Given the description of an element on the screen output the (x, y) to click on. 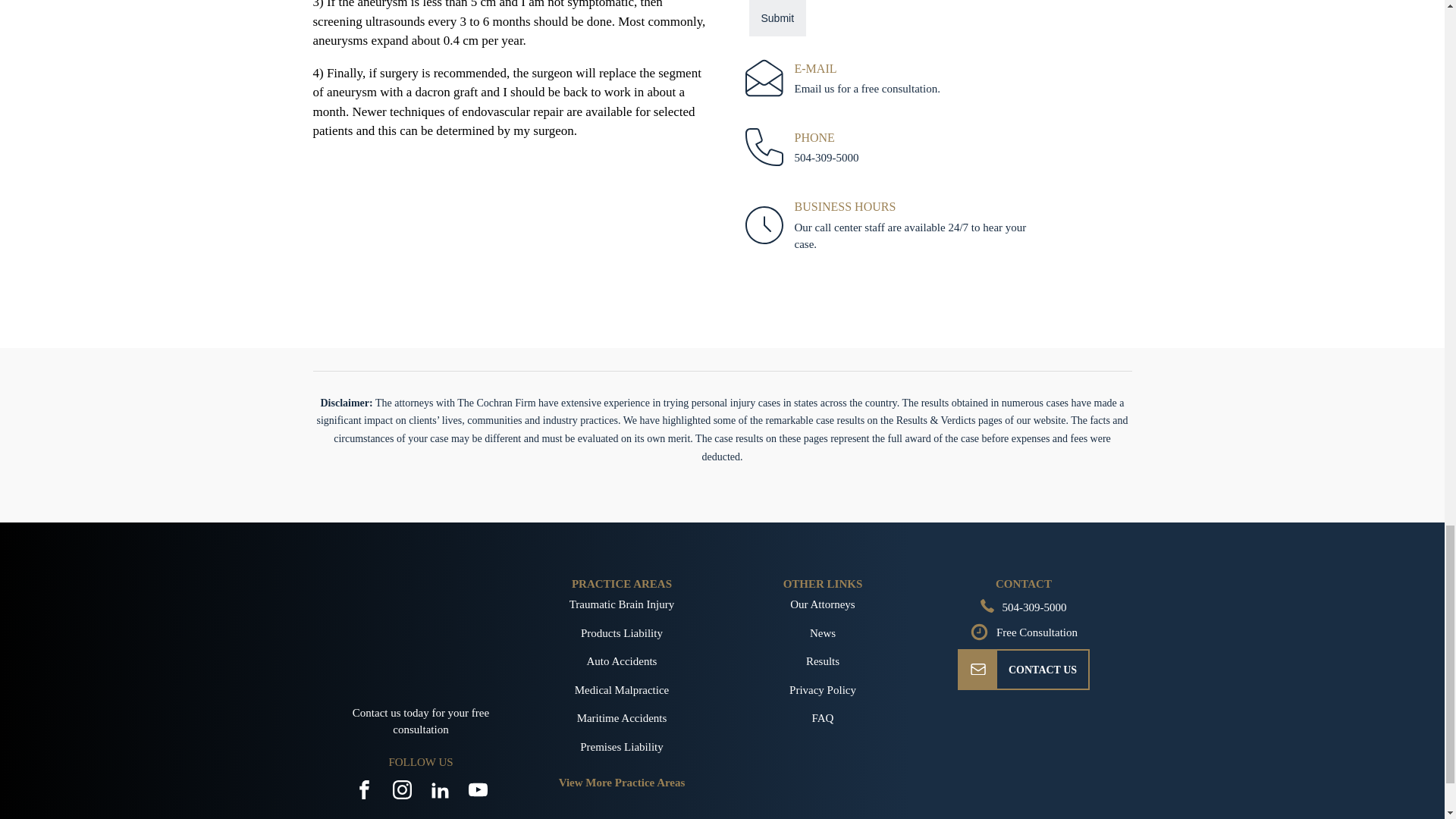
Submit (777, 18)
Envelope Icon (978, 669)
Phone Icon (986, 605)
